Given the description of an element on the screen output the (x, y) to click on. 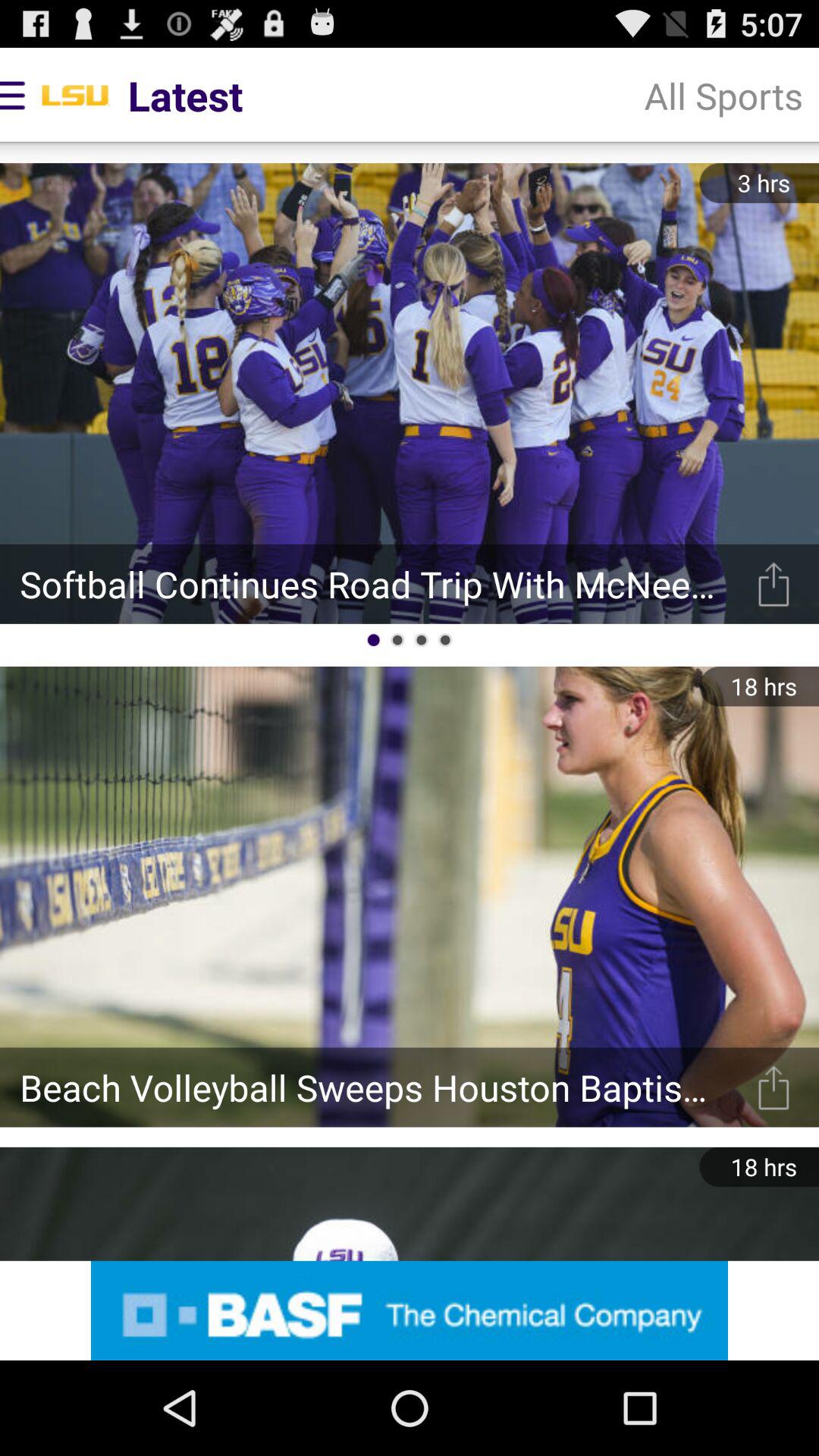
choose the icon next to the latest (723, 95)
